Given the description of an element on the screen output the (x, y) to click on. 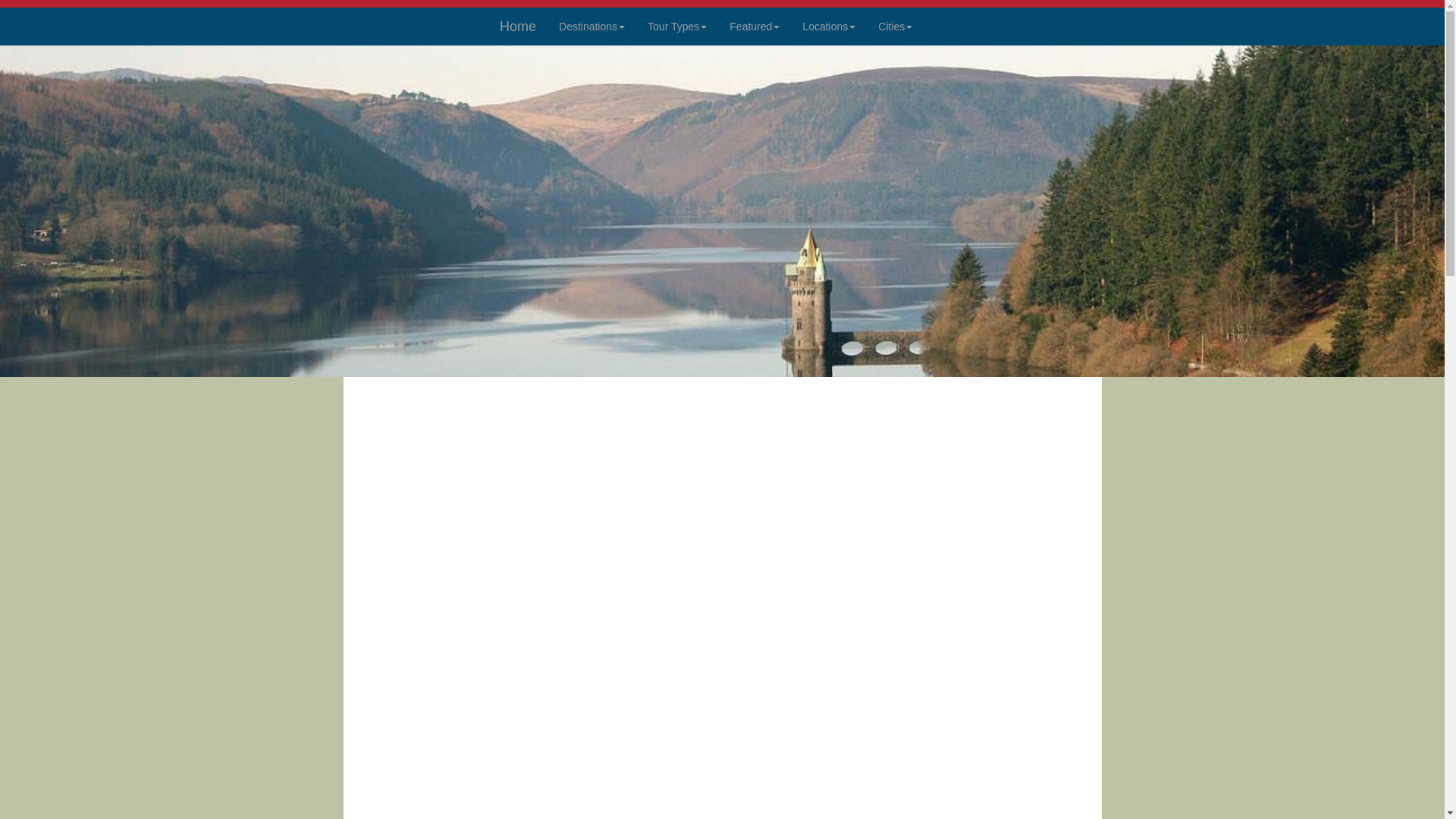
Home (517, 26)
Destinations (591, 26)
Tour Types (676, 26)
